Given the description of an element on the screen output the (x, y) to click on. 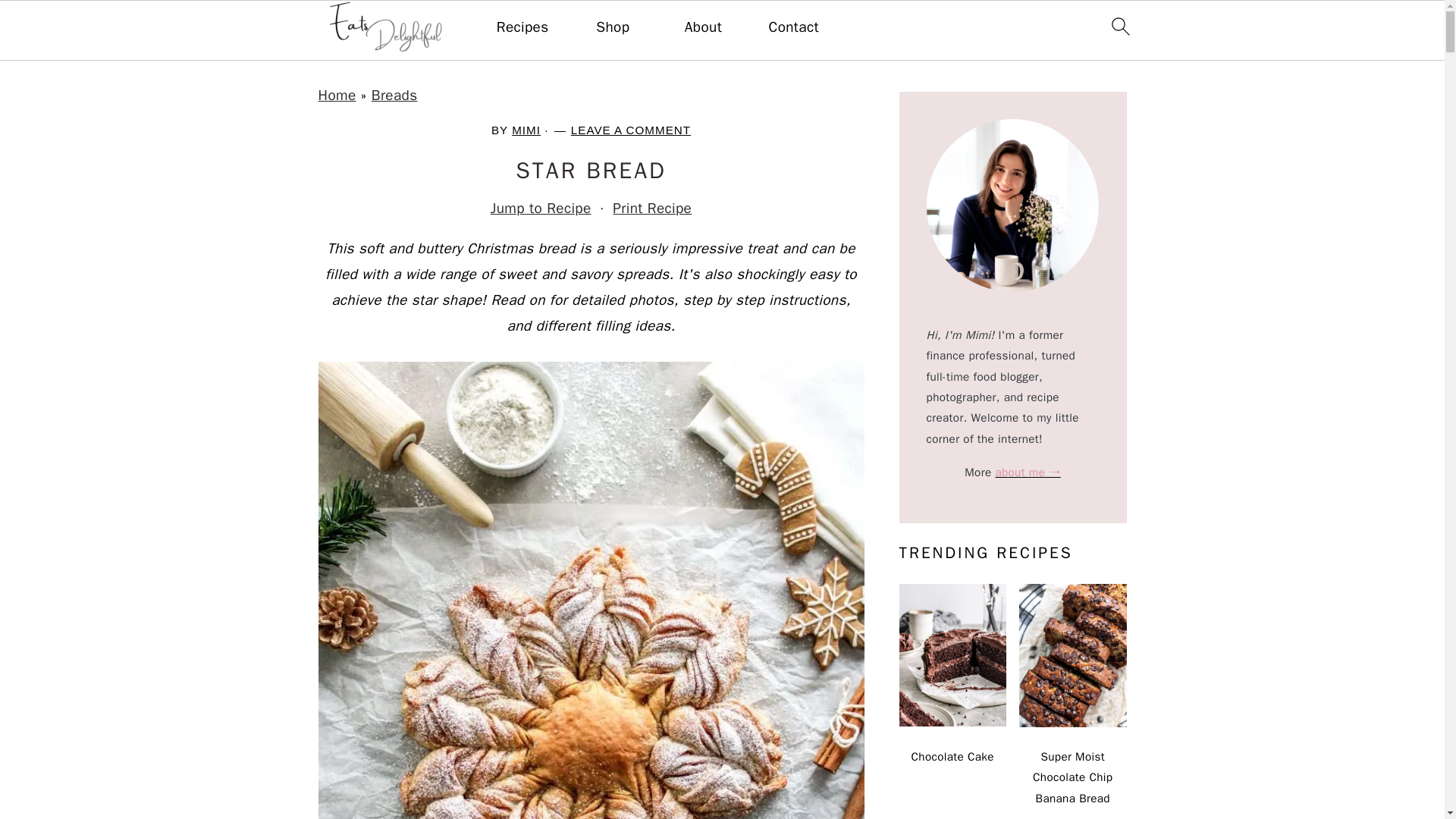
search icon (1119, 26)
Home (337, 95)
Shop (611, 27)
Jump to Recipe (540, 208)
Breads (394, 95)
About (703, 27)
Contact (793, 27)
LEAVE A COMMENT (630, 129)
MIMI (526, 129)
Jump to Recipe (540, 208)
Print Recipe (651, 208)
Recipes (522, 27)
